Given the description of an element on the screen output the (x, y) to click on. 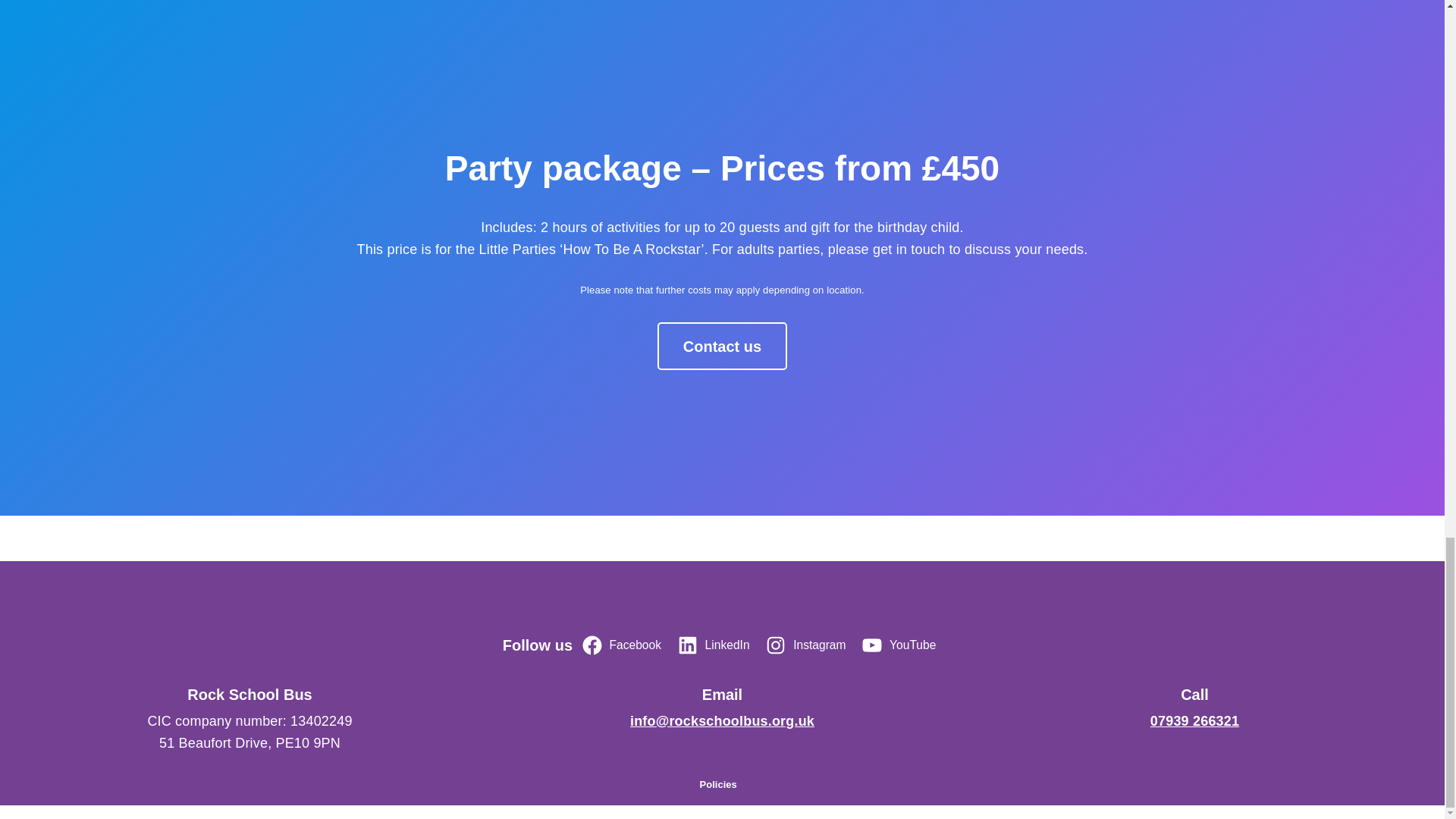
Policies (718, 784)
Facebook (623, 644)
Contact us (722, 346)
Instagram (807, 644)
07939 266321 (1194, 720)
LinkedIn (716, 644)
YouTube (901, 644)
